Given the description of an element on the screen output the (x, y) to click on. 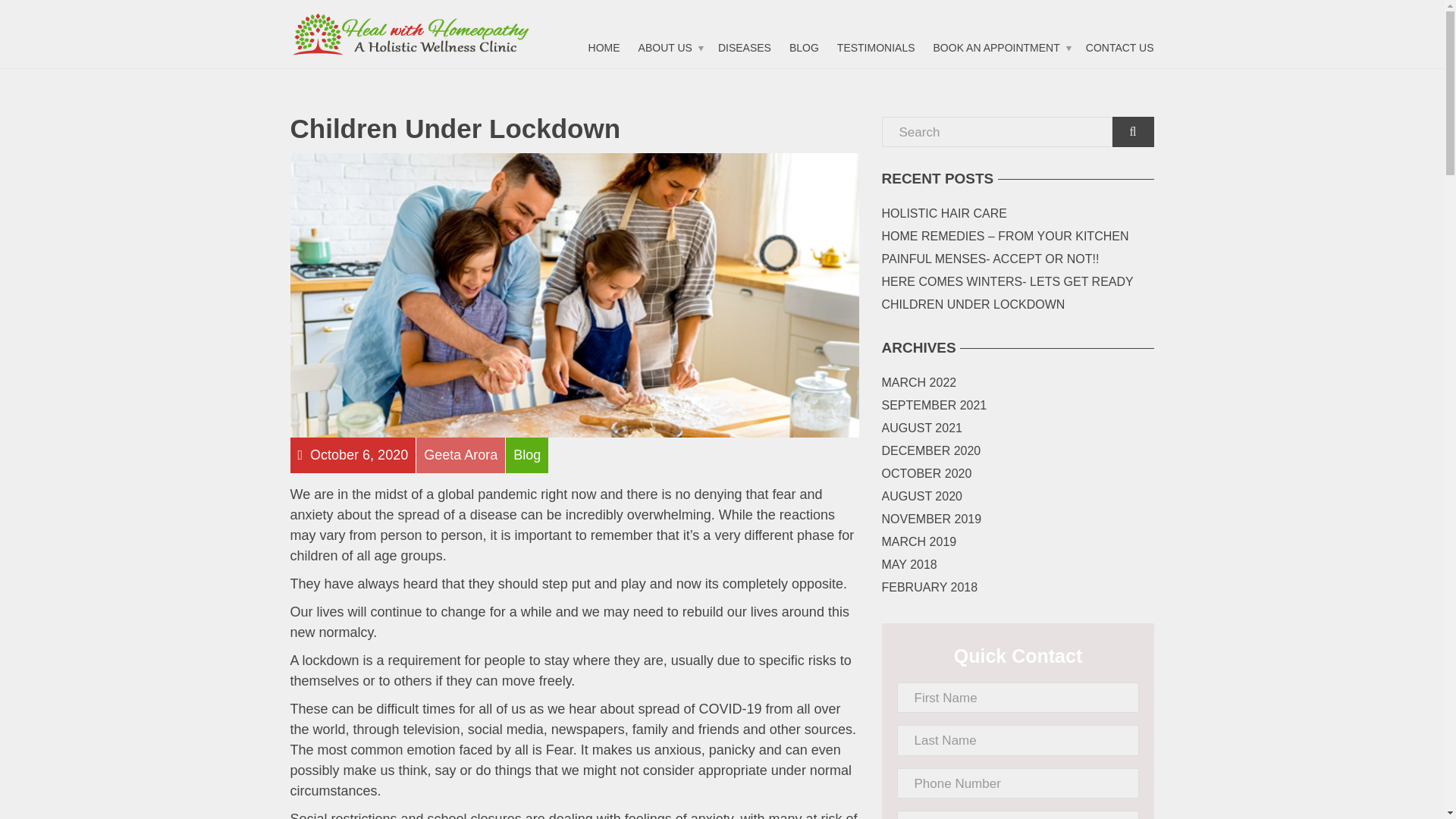
AUGUST 2020 (920, 496)
HOME (603, 47)
Blog (804, 47)
PAINFUL MENSES- ACCEPT OR NOT!! (989, 259)
MARCH 2019 (918, 541)
Contact Us (1120, 47)
TESTIMONIALS (876, 47)
HERE COMES WINTERS- LETS GET READY (1006, 282)
ABOUT US (668, 47)
SEPTEMBER 2021 (933, 404)
